Given the description of an element on the screen output the (x, y) to click on. 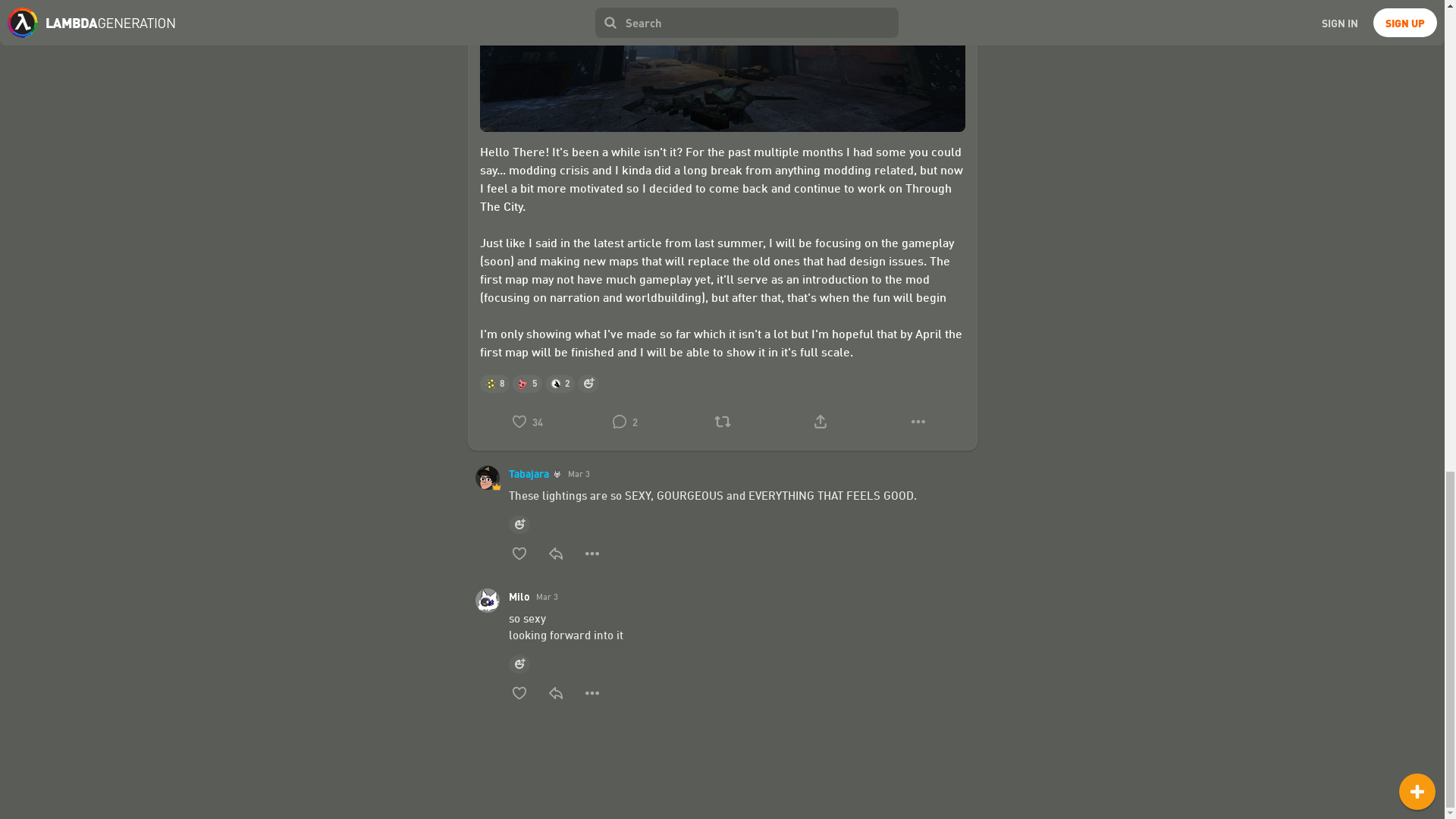
Tabajara (534, 473)
Milo (518, 596)
2 (624, 421)
